Given the description of an element on the screen output the (x, y) to click on. 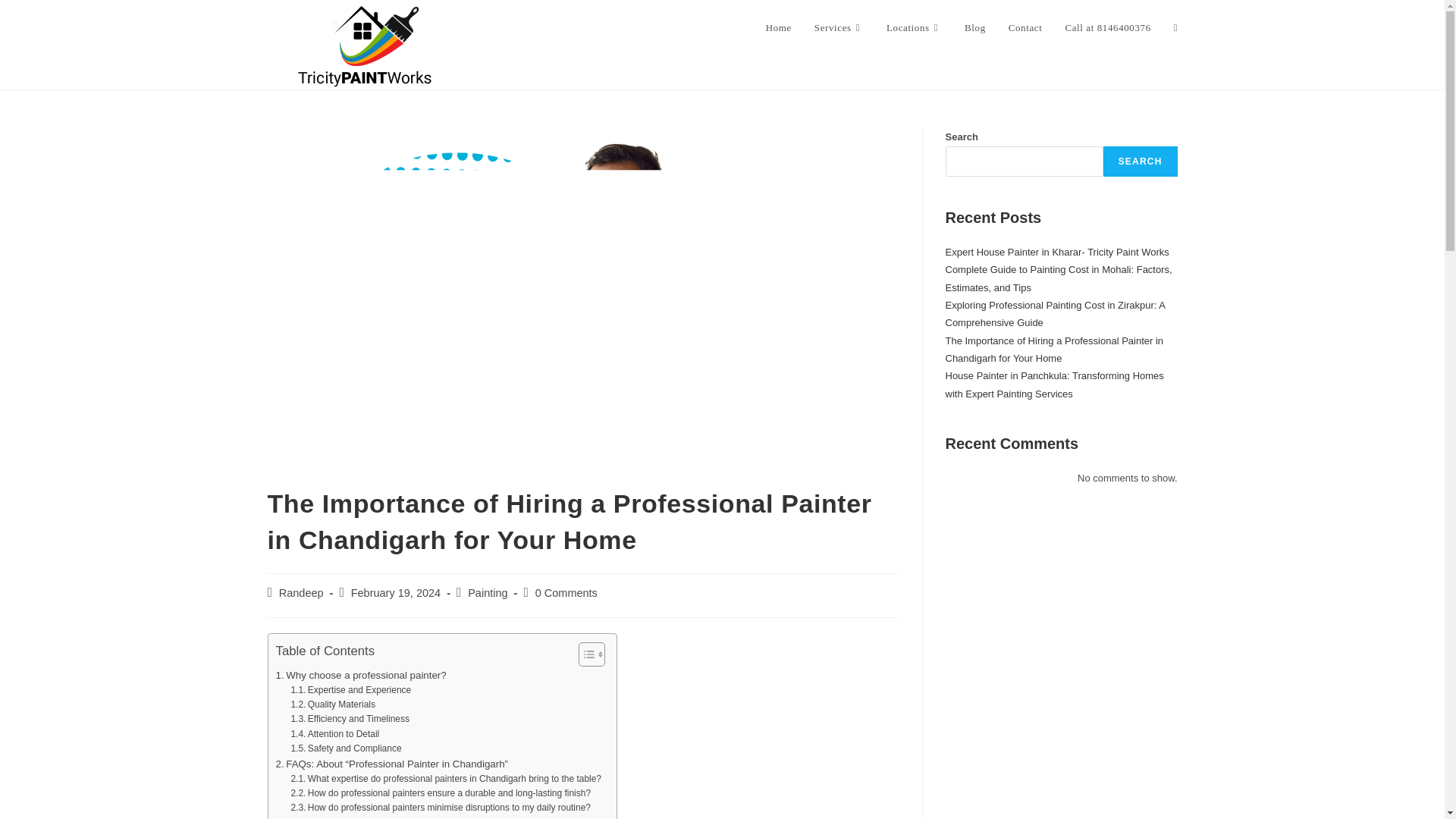
Call at 8146400376 (1106, 28)
Attention to Detail (333, 734)
Why choose a professional painter? (361, 675)
Randeep (301, 592)
Quality Materials (332, 704)
Painting (486, 592)
Locations (914, 28)
Contact (1025, 28)
Safety and Compliance (345, 748)
Expertise and Experience (349, 690)
Posts by Randeep (301, 592)
Services (839, 28)
Efficiency and Timeliness (349, 718)
